Given the description of an element on the screen output the (x, y) to click on. 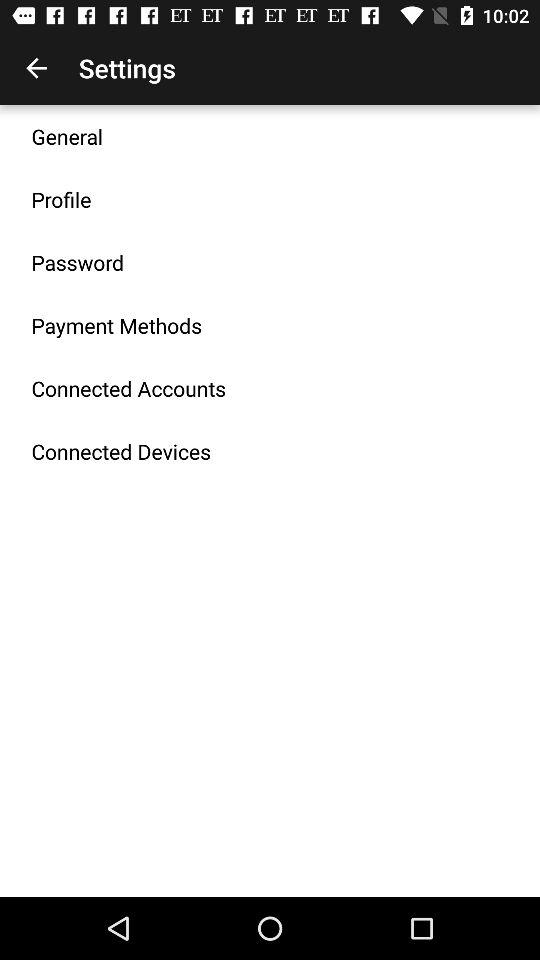
launch the icon below connected accounts icon (121, 451)
